Given the description of an element on the screen output the (x, y) to click on. 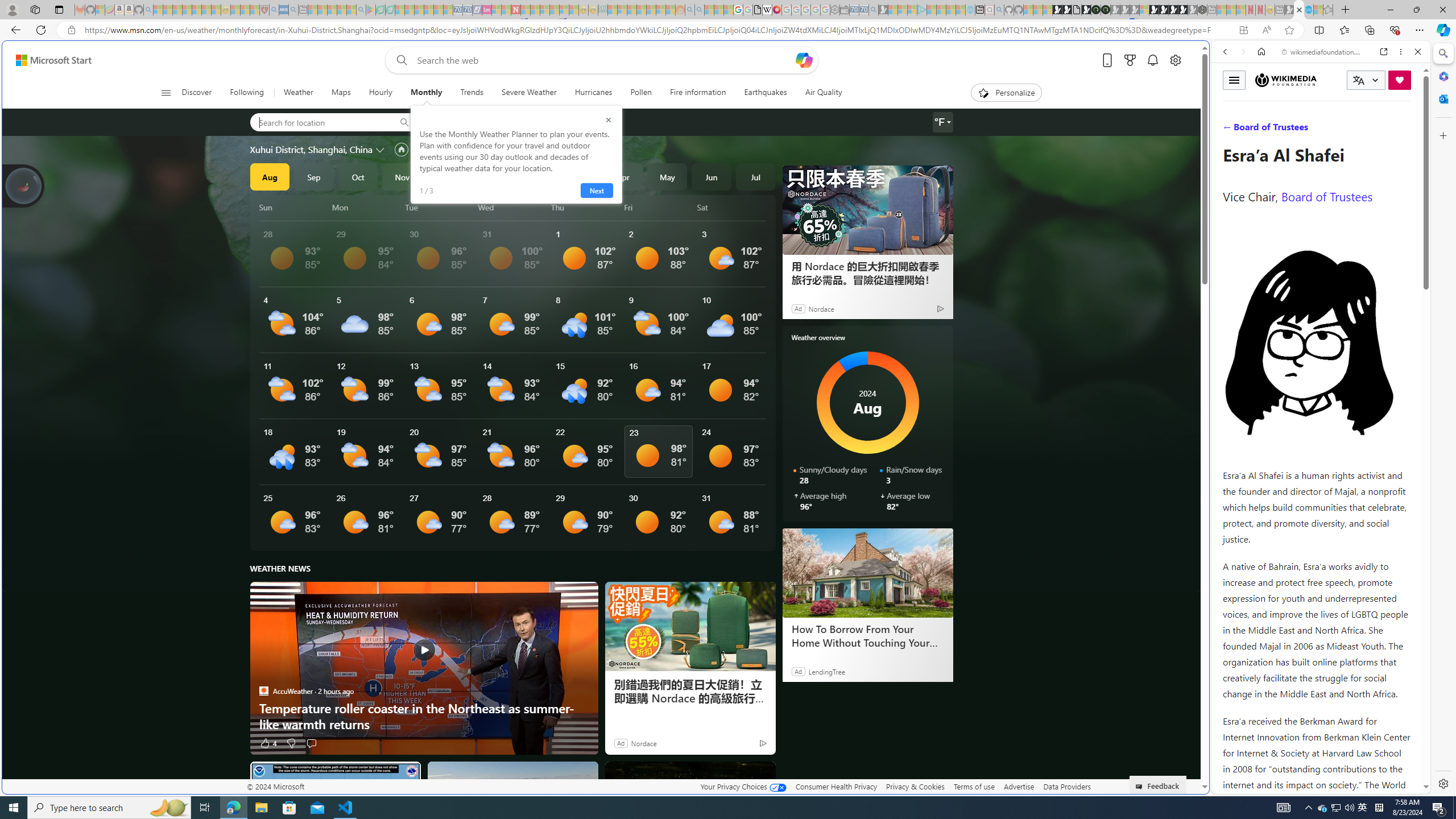
Severe Weather (529, 92)
Cheap Car Rentals - Save70.com - Sleeping (863, 9)
Toggle menu (1233, 80)
Fri (659, 207)
Settings - Sleeping (834, 9)
SEARCH TOOLS (1350, 130)
Bluey: Let's Play! - Apps on Google Play - Sleeping (370, 9)
Sign in to your account - Sleeping (1144, 9)
